Given the description of an element on the screen output the (x, y) to click on. 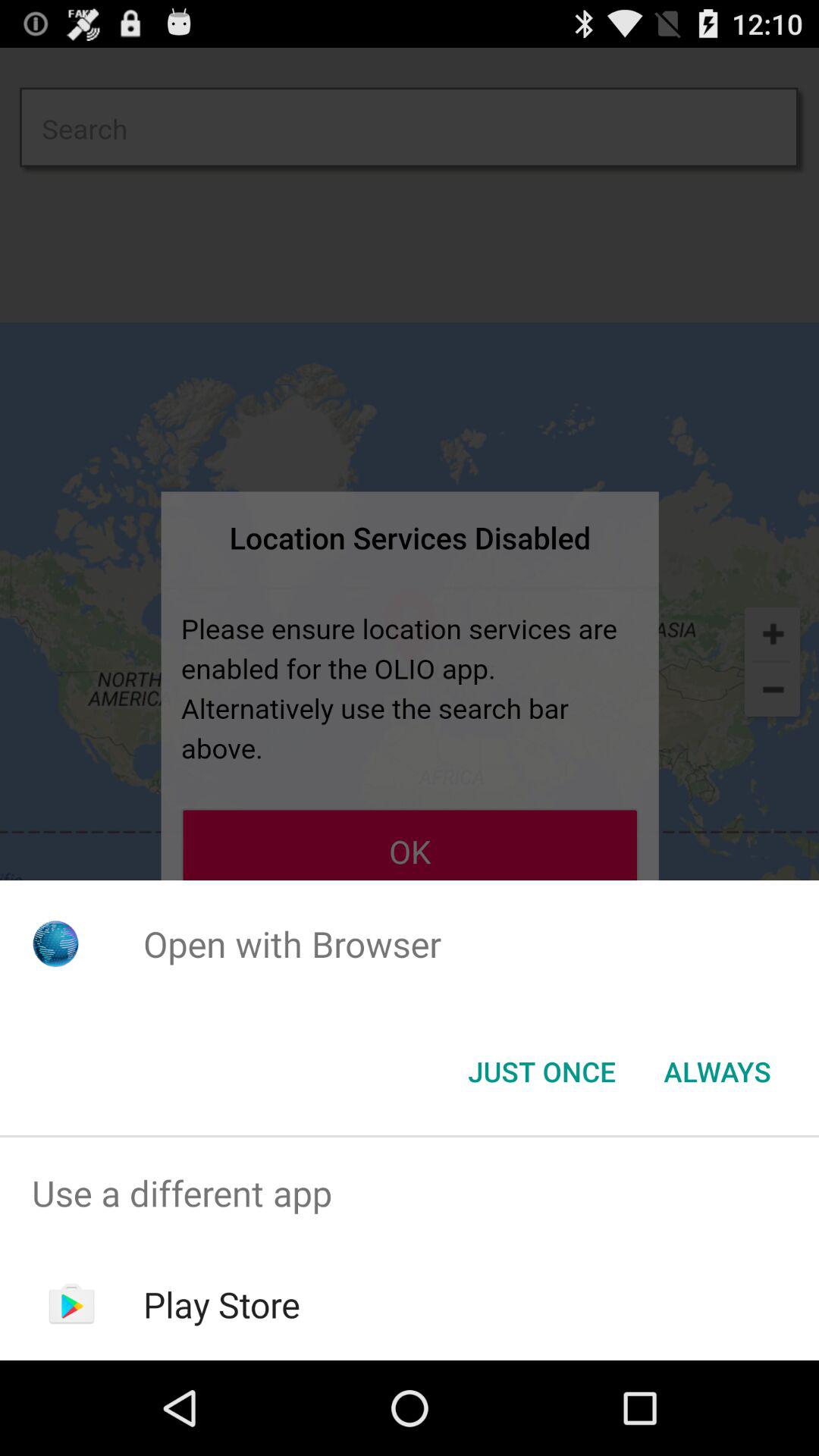
launch always icon (717, 1071)
